Given the description of an element on the screen output the (x, y) to click on. 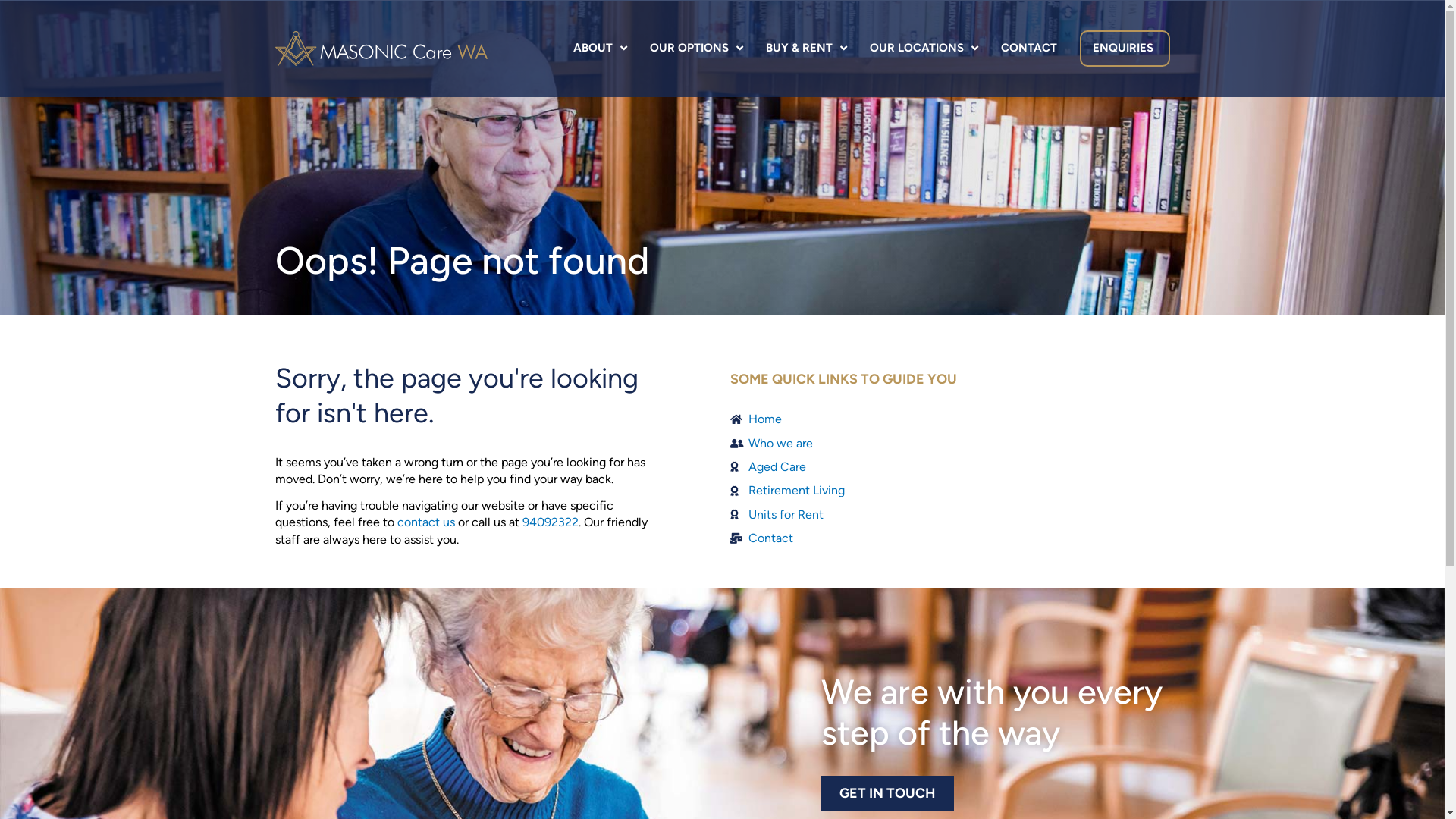
Home Element type: text (949, 419)
94092322 Element type: text (549, 521)
ENQUIRIES Element type: text (1124, 48)
Contact Element type: text (949, 538)
GET IN TOUCH Element type: text (886, 793)
ABOUT Element type: text (599, 48)
OUR LOCATIONS Element type: text (924, 48)
BUY & RENT Element type: text (805, 48)
CONTACT Element type: text (1028, 48)
Units for Rent Element type: text (949, 514)
OUR OPTIONS Element type: text (696, 48)
Aged Care Element type: text (949, 466)
contact us Element type: text (426, 521)
Retirement Living Element type: text (949, 490)
Who we are Element type: text (949, 443)
